Given the description of an element on the screen output the (x, y) to click on. 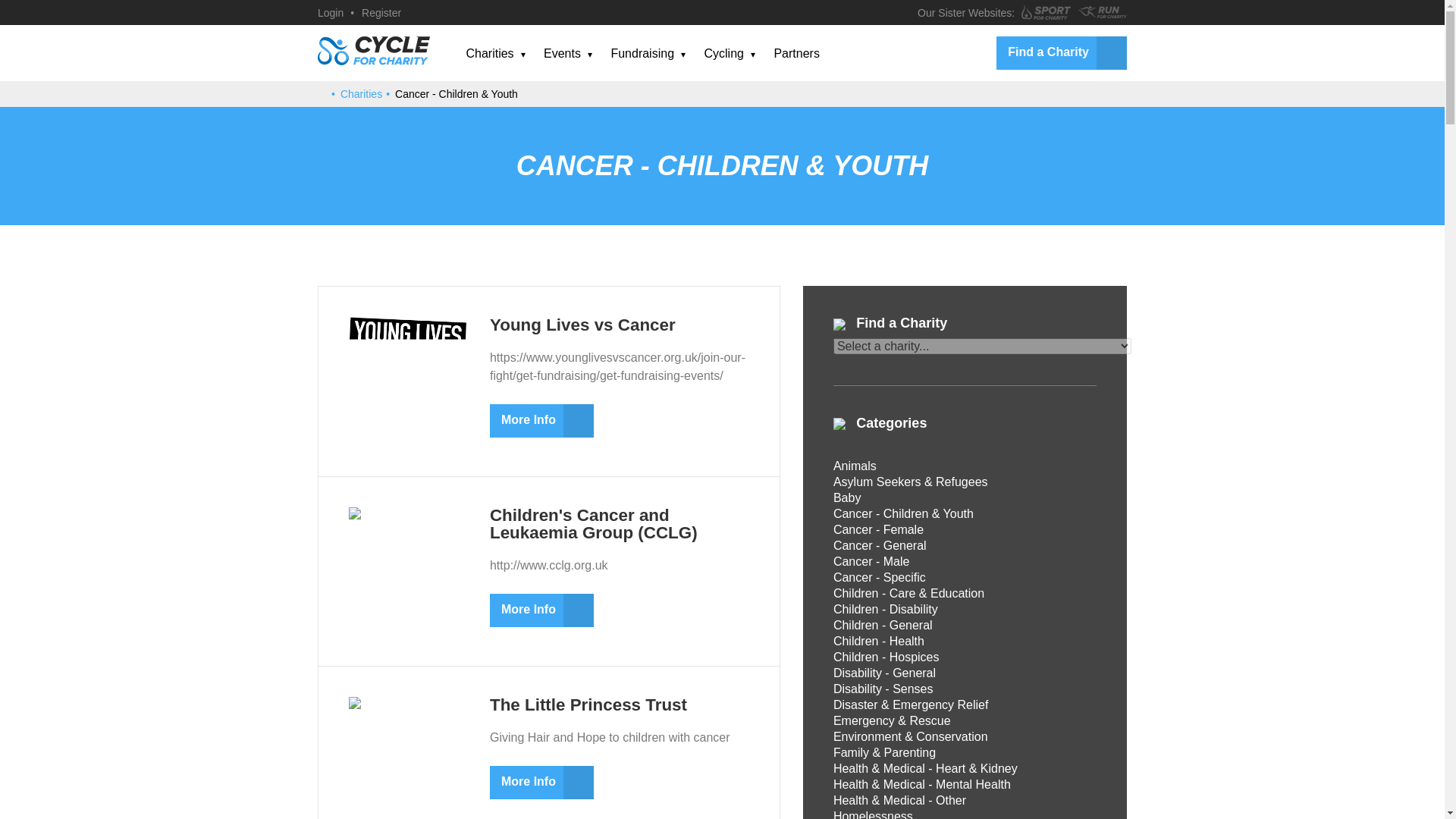
Fundraising (642, 52)
Find a Charity (1060, 52)
Charities (489, 52)
Events (561, 52)
Partners (795, 52)
Cycling (722, 52)
Register (381, 12)
Login (330, 12)
